Given the description of an element on the screen output the (x, y) to click on. 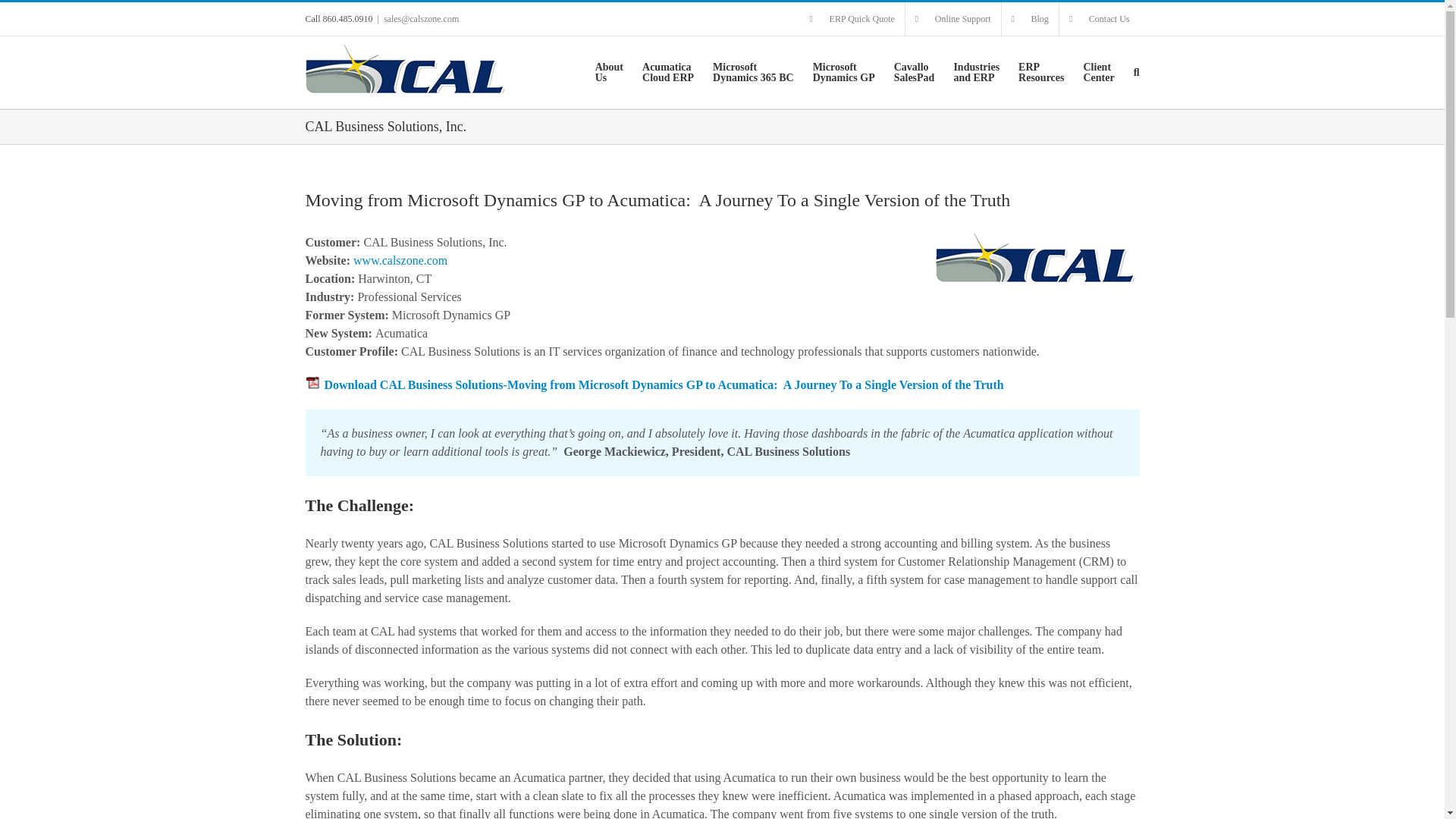
Blog (1029, 19)
Adobe PDF (312, 382)
Search (609, 72)
acumaticaclouderp (668, 72)
Online Support (668, 72)
Contact Us (851, 19)
